Given the description of an element on the screen output the (x, y) to click on. 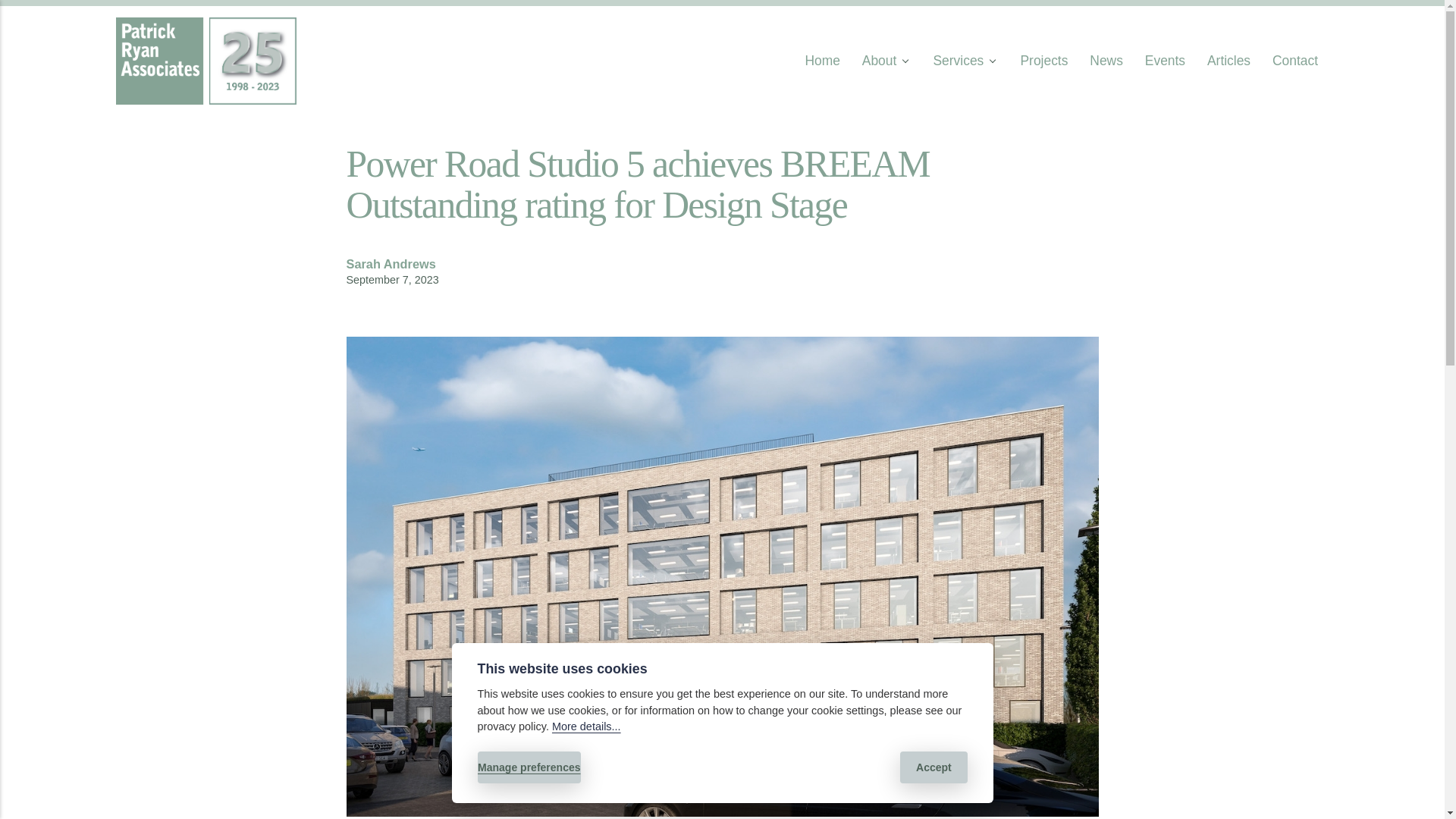
Sarah Andrews (392, 263)
Manage preferences (528, 766)
More details... (586, 726)
Accept (933, 766)
